Given the description of an element on the screen output the (x, y) to click on. 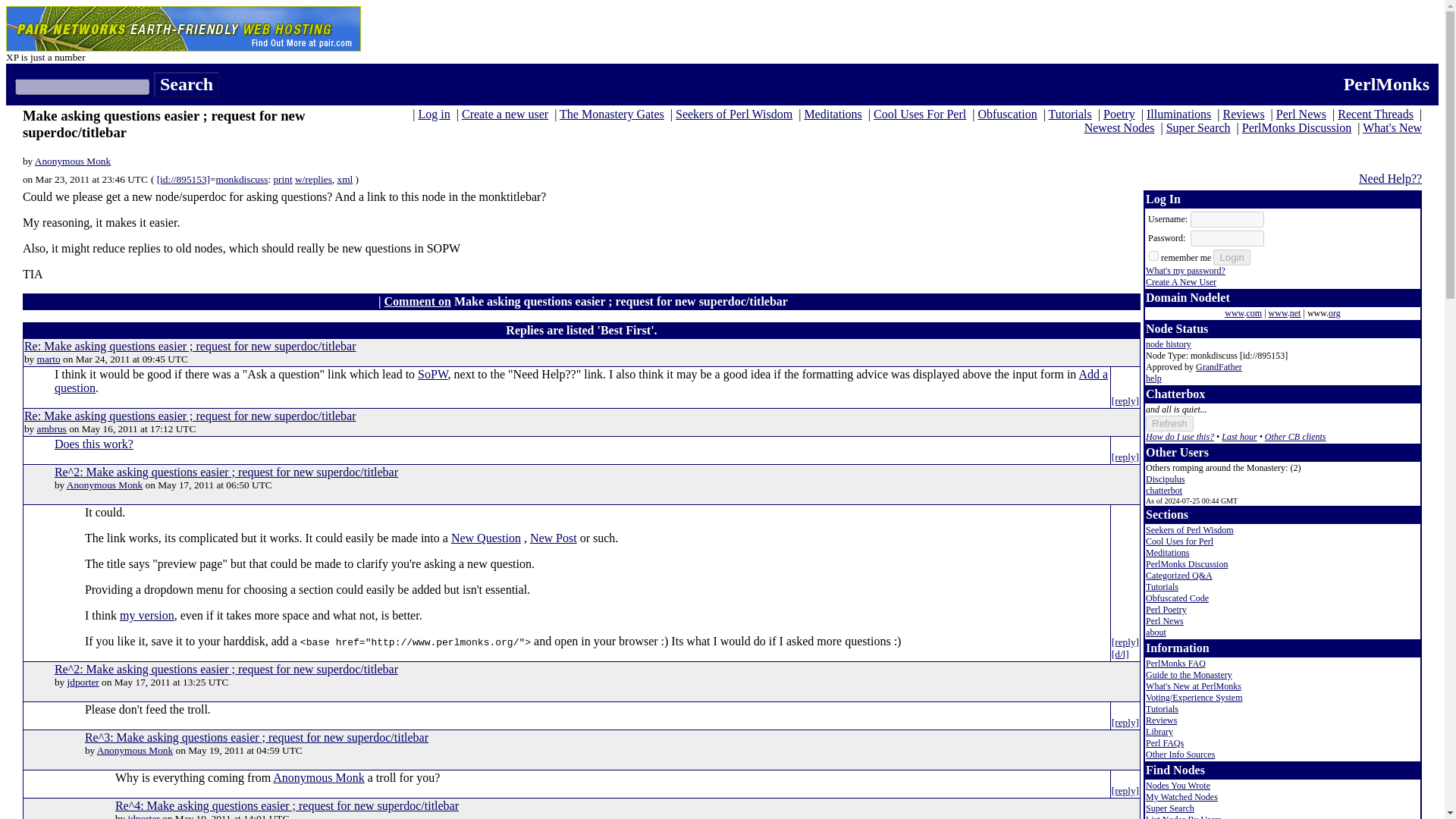
Add a question (581, 380)
Search (186, 84)
Create a new user (504, 113)
PerlMonks (1386, 84)
Need Help?? (1390, 178)
Super Search (1198, 127)
Seekers of Perl Wisdom (733, 113)
What's New (1392, 127)
chatterbot's home node. Level 1 (1163, 490)
monkdiscuss (241, 179)
Perl News (1301, 113)
xml (345, 179)
Tutorials (1070, 113)
Does this work? (94, 443)
Poetry (1119, 113)
